Given the description of an element on the screen output the (x, y) to click on. 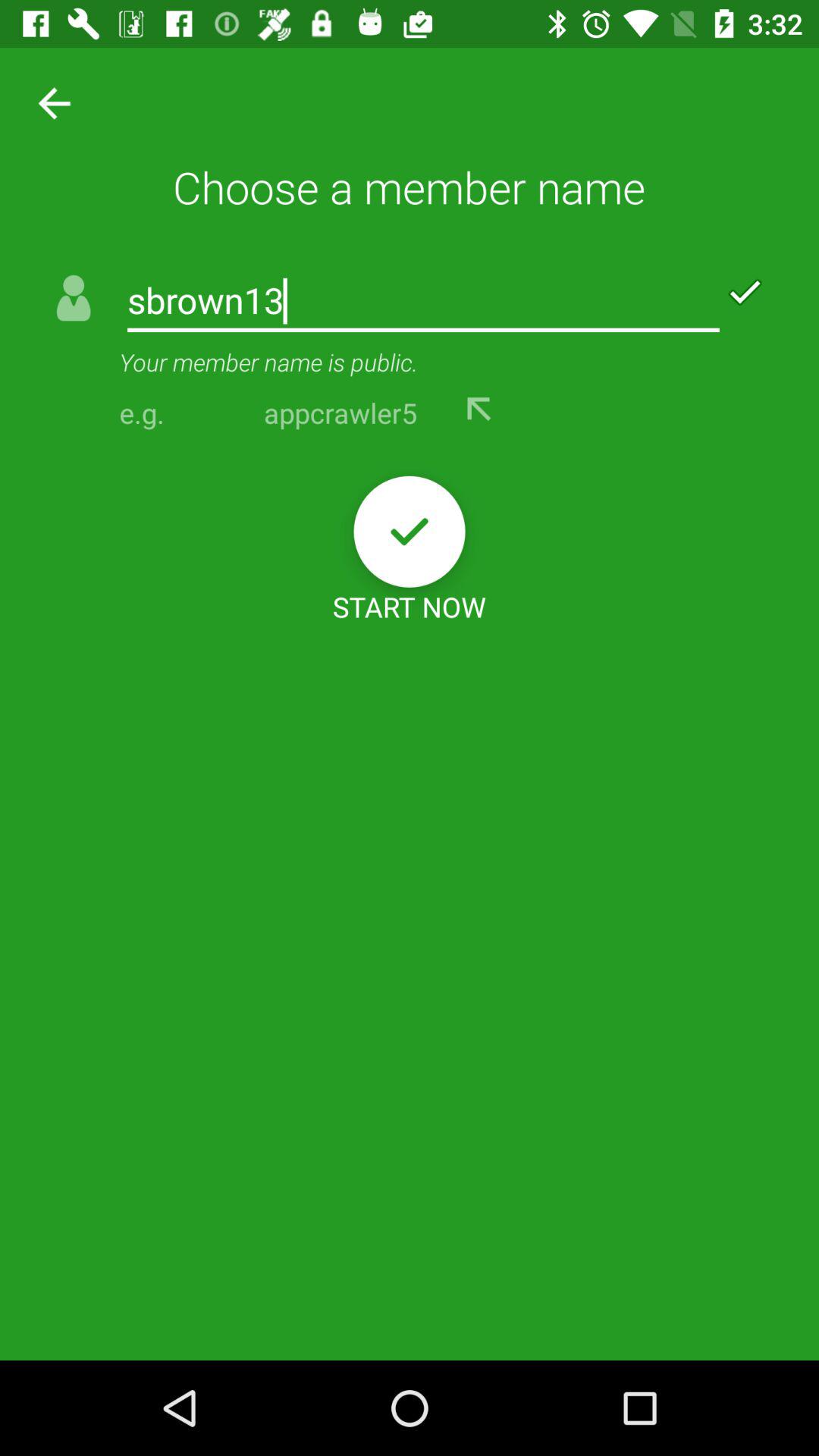
use this username (479, 409)
